Given the description of an element on the screen output the (x, y) to click on. 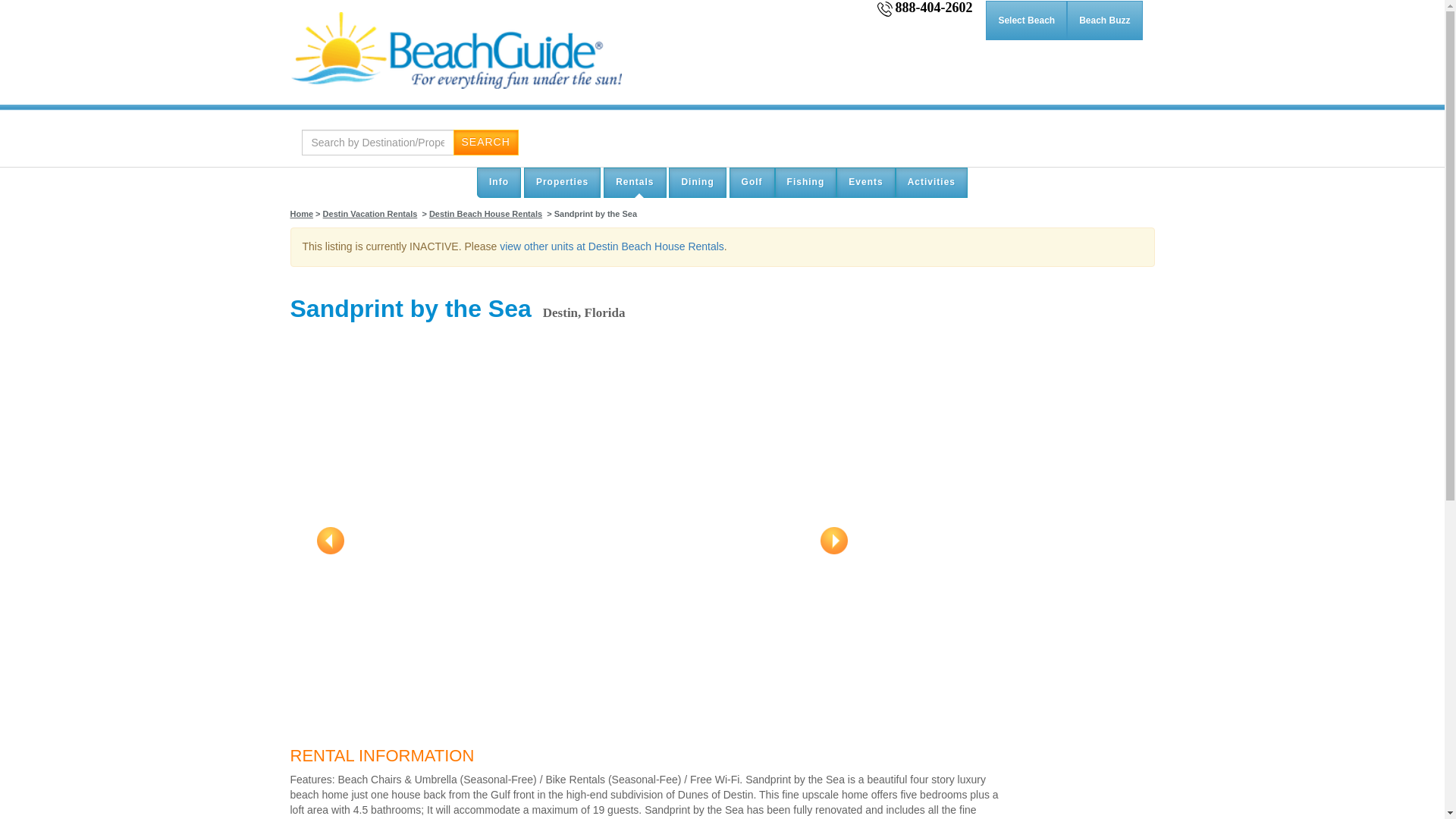
Activities (931, 182)
Dining (696, 182)
SEARCH (485, 142)
Destin Vacation Rentals (370, 213)
Events (865, 182)
Properties (561, 182)
view other units at Destin Beach House Rentals (611, 246)
Beach Buzz (1104, 20)
Select Beach (1026, 20)
Info (499, 182)
